Given the description of an element on the screen output the (x, y) to click on. 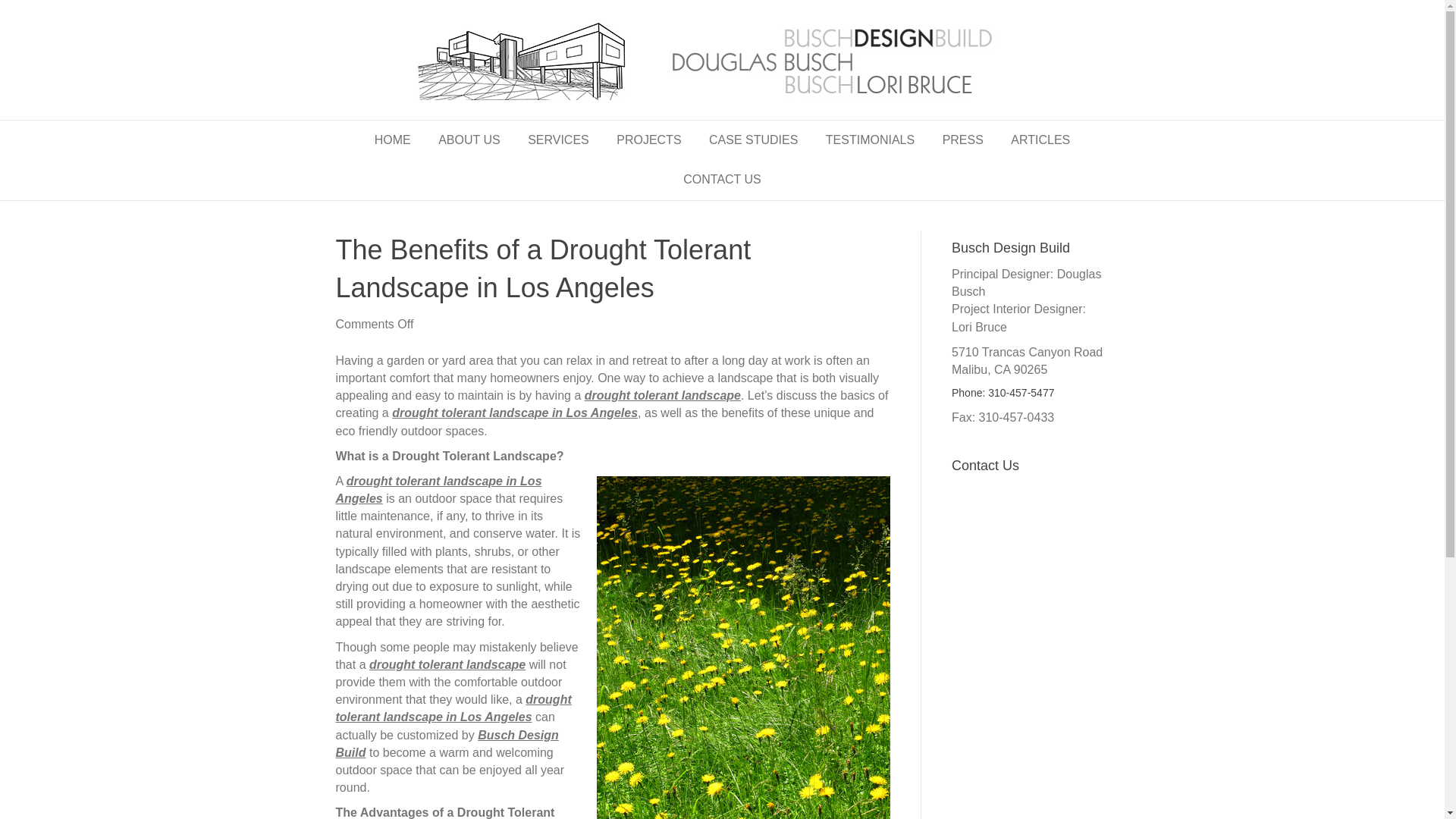
SERVICES (558, 139)
TESTIMONIALS (869, 139)
PRESS (962, 139)
ABOUT US (469, 139)
PROJECTS (648, 139)
CONTACT US (722, 179)
ARTICLES (1039, 139)
CASE STUDIES (753, 139)
HOME (392, 139)
